Given the description of an element on the screen output the (x, y) to click on. 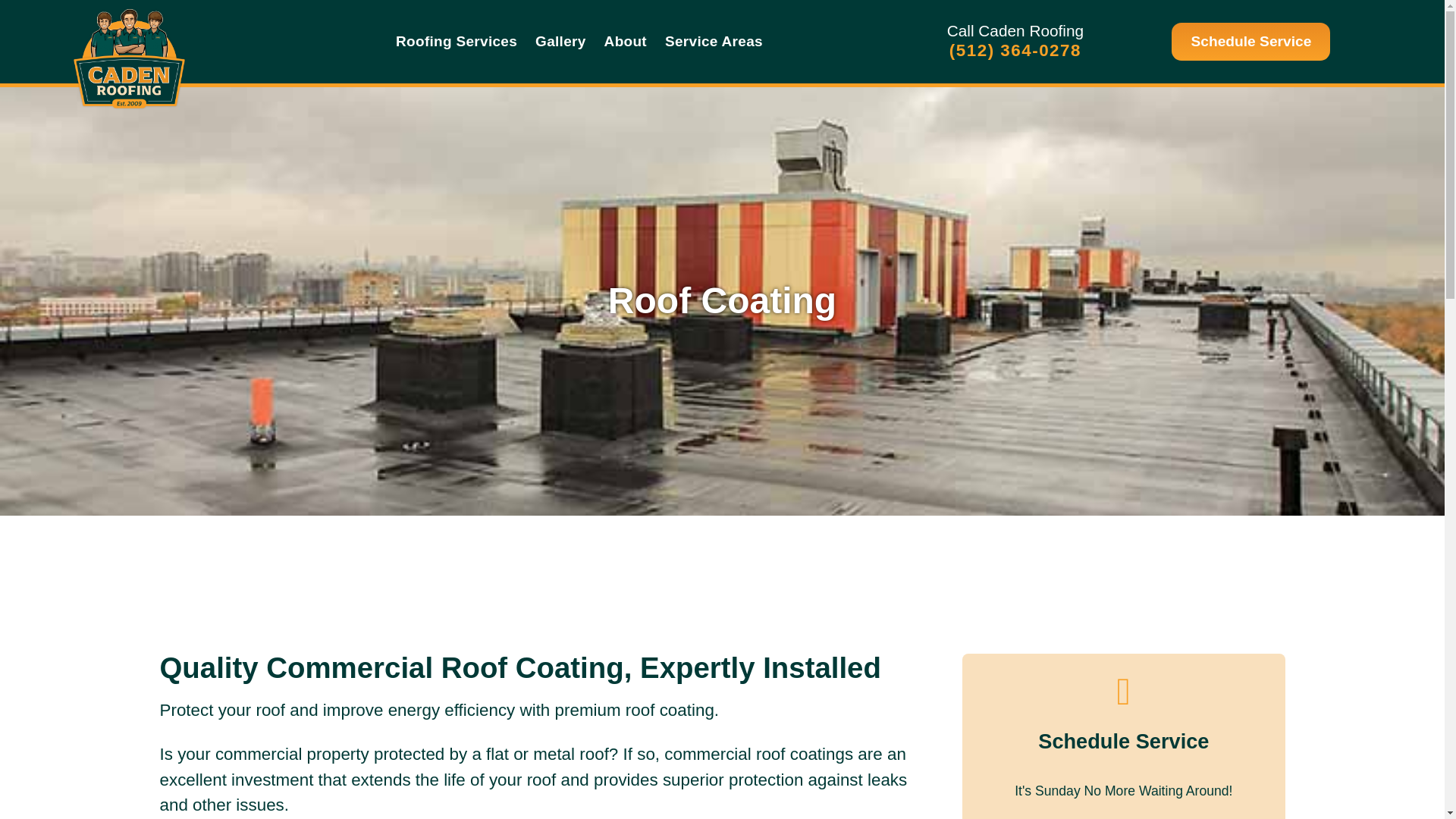
Roofing Services (456, 41)
Gallery (560, 41)
About (625, 41)
Service Areas (713, 41)
